Given the description of an element on the screen output the (x, y) to click on. 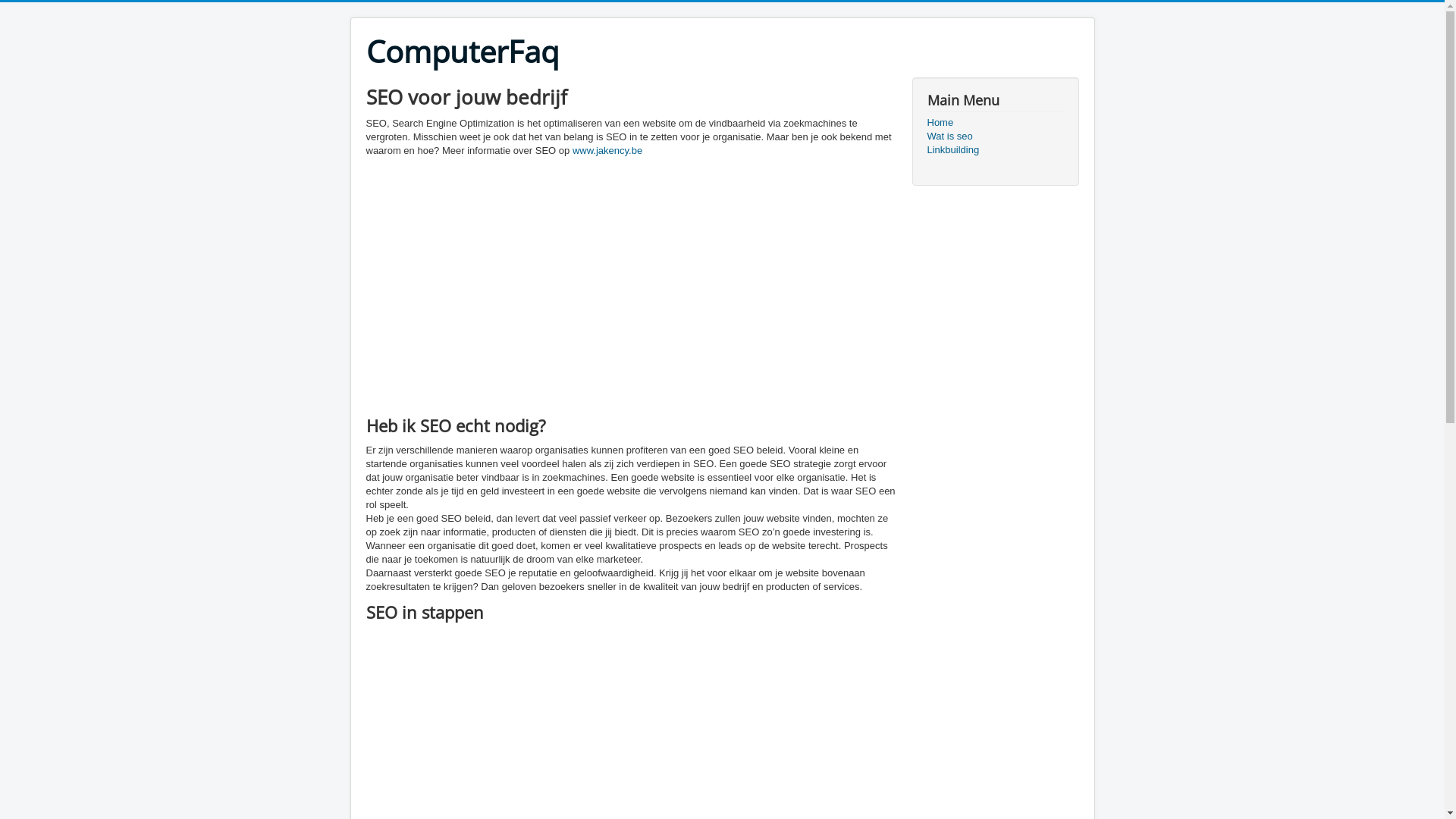
Wat is seo Element type: text (994, 136)
ComputerFaq Element type: text (461, 51)
Home Element type: text (994, 122)
www.jakency.be Element type: text (607, 150)
Linkbuilding Element type: text (994, 149)
